Given the description of an element on the screen output the (x, y) to click on. 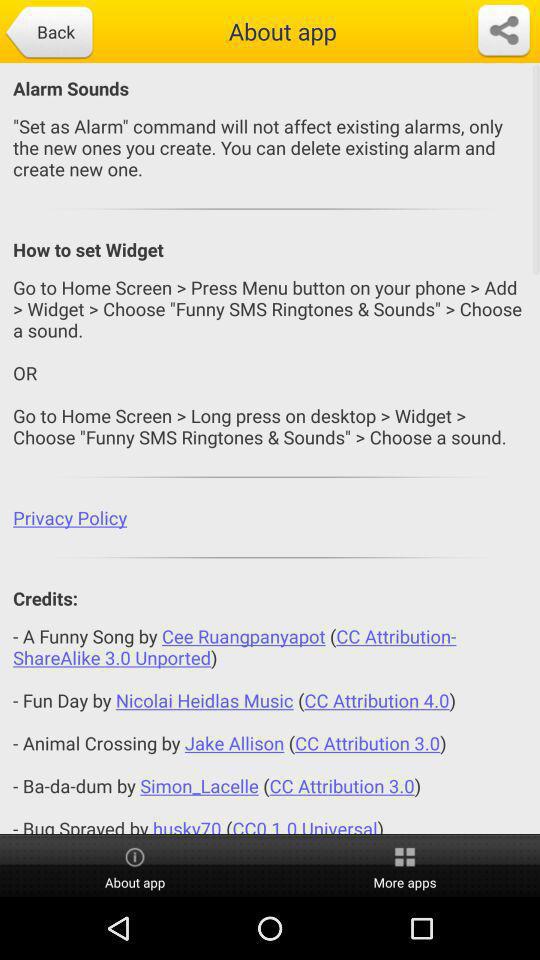
select icon below the a funny song icon (405, 866)
